Given the description of an element on the screen output the (x, y) to click on. 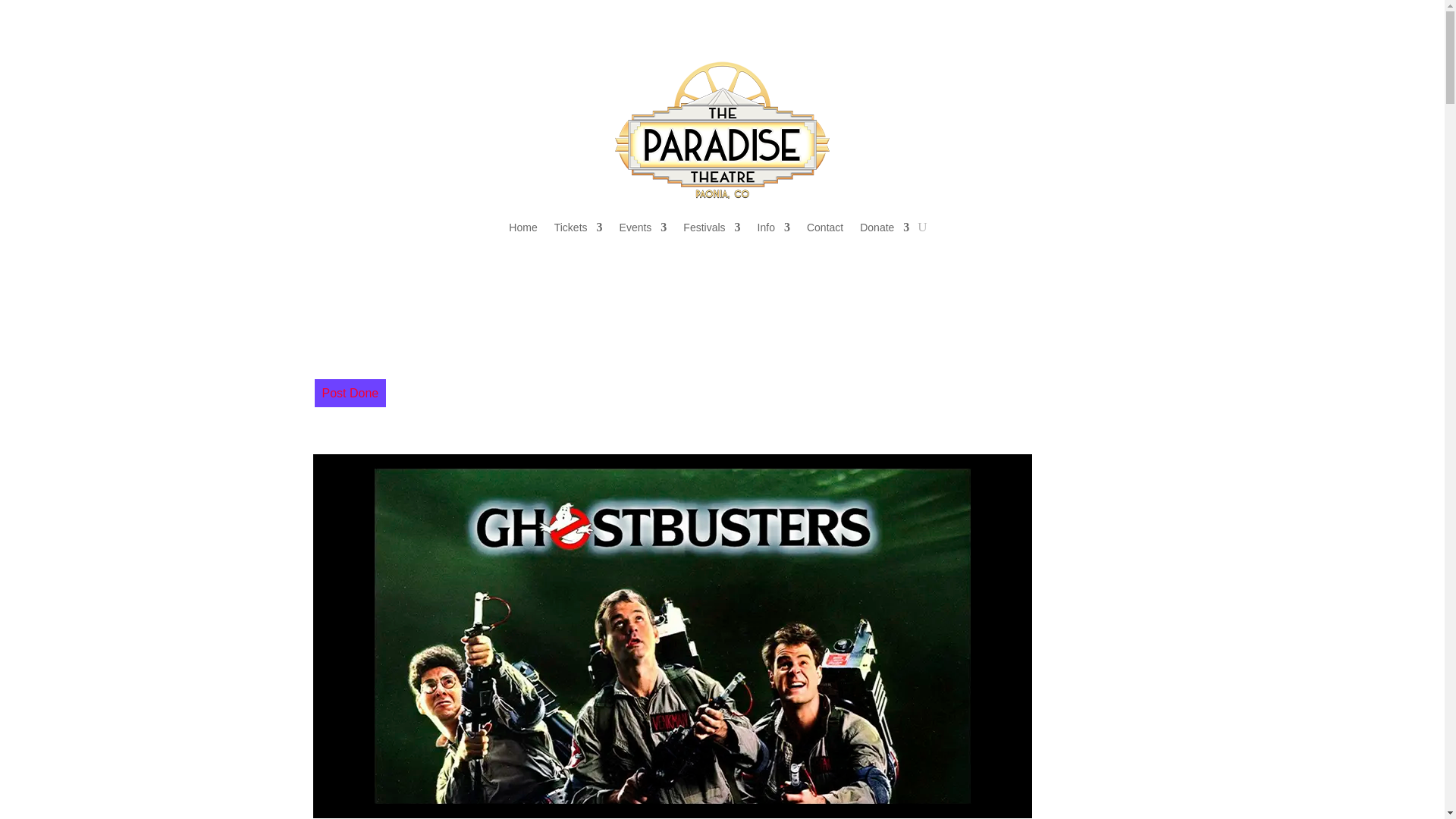
Festivals (710, 227)
Post Done (349, 393)
Festivals (710, 227)
